Given the description of an element on the screen output the (x, y) to click on. 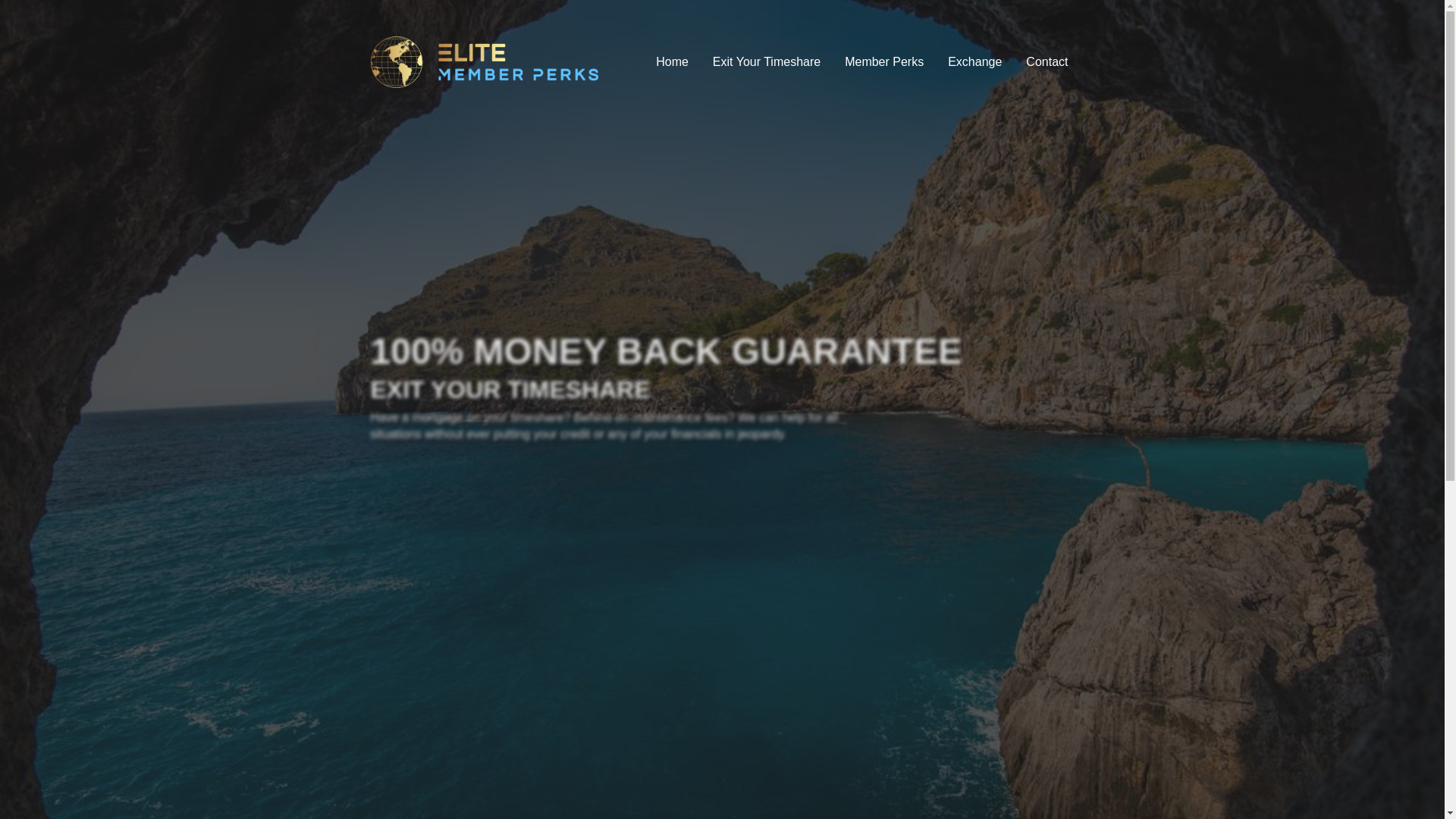
Home (671, 61)
Contact (1046, 61)
Exchange (974, 61)
Exit Your Timeshare (766, 61)
Member Perks (884, 61)
